Given the description of an element on the screen output the (x, y) to click on. 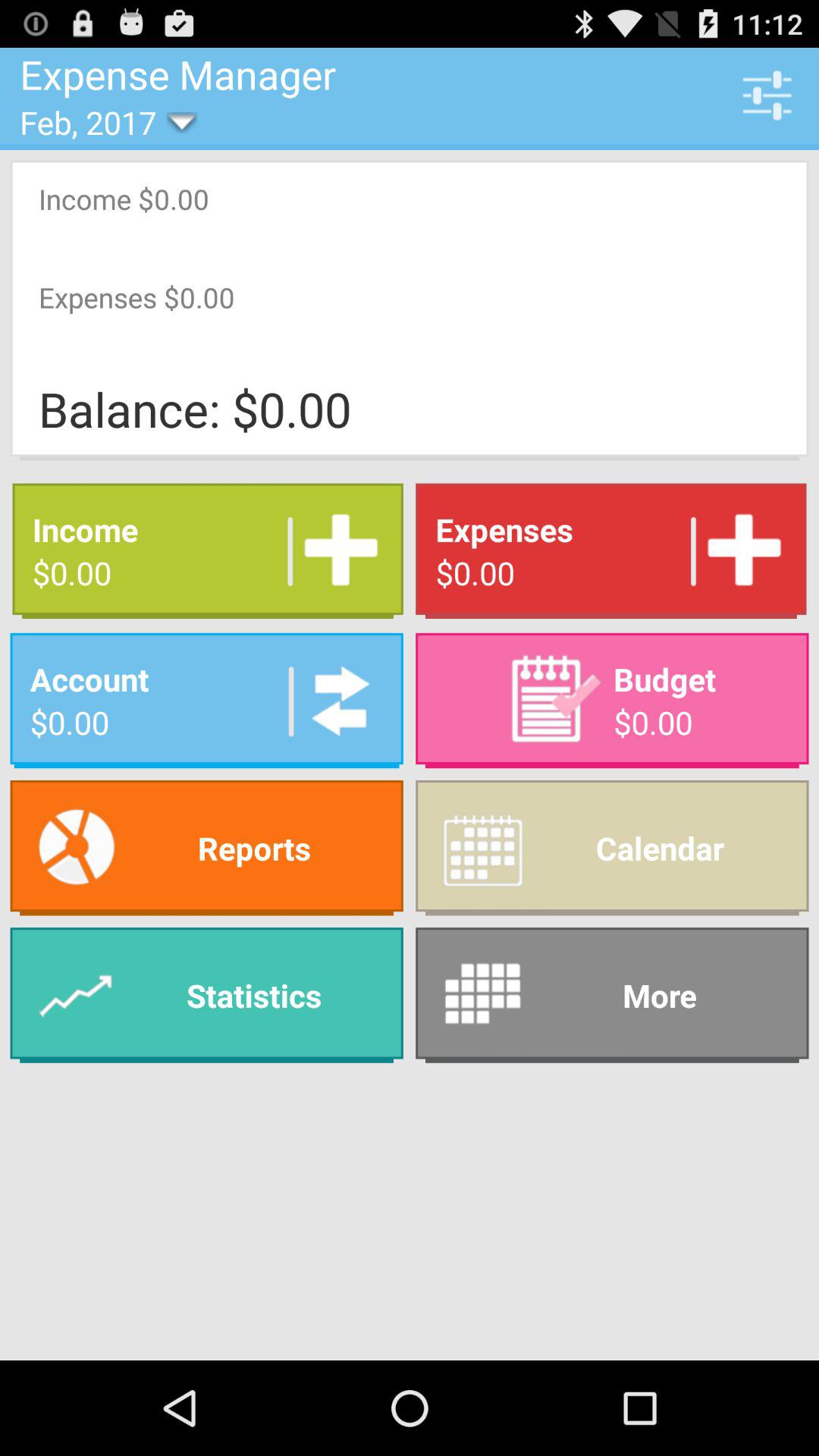
select account (335, 700)
